Given the description of an element on the screen output the (x, y) to click on. 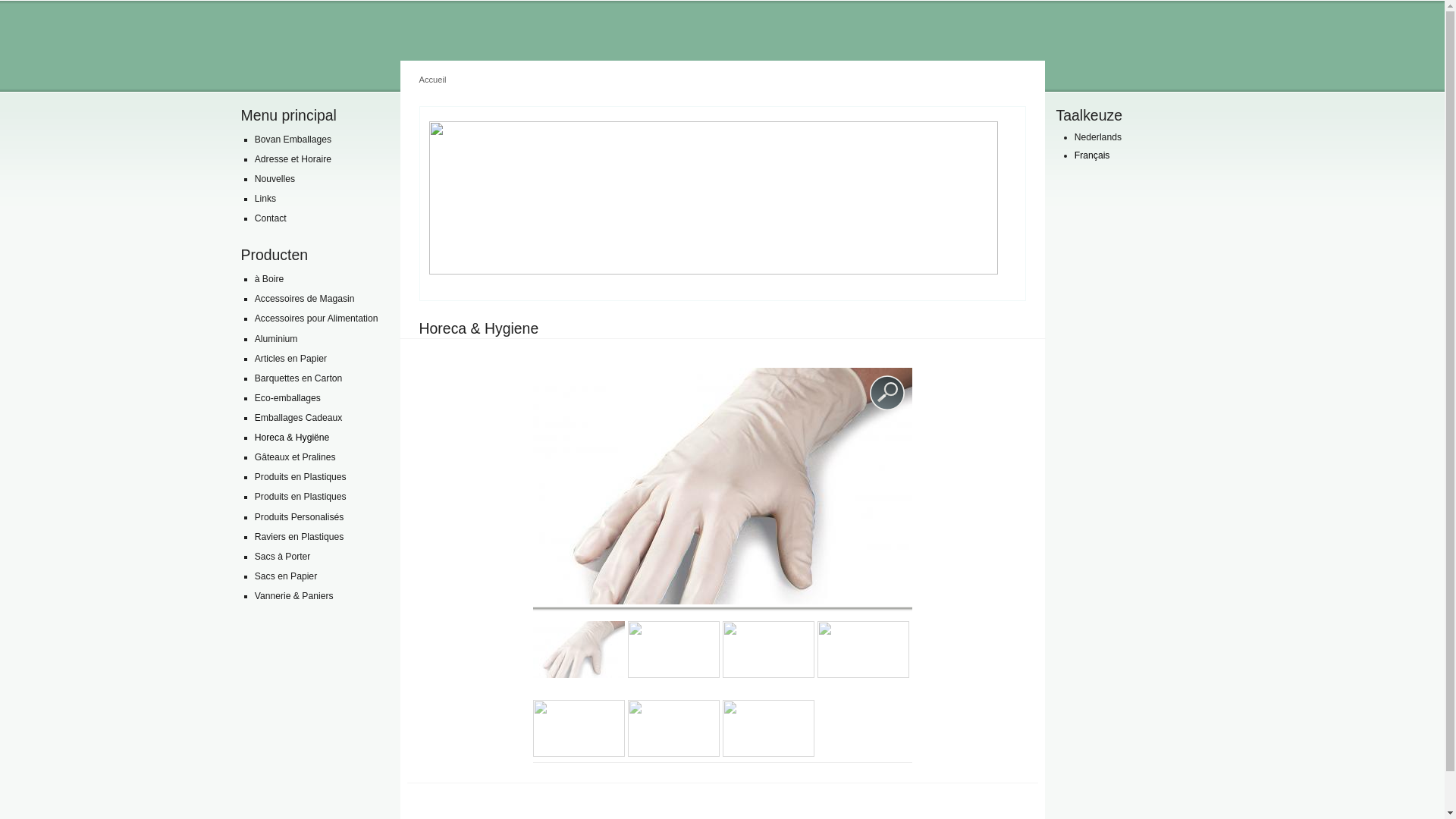
servettes Element type: hover (578, 727)
Eco-emballages Element type: text (319, 398)
Produits en Plastiques Element type: text (319, 497)
Nederlands Element type: text (1097, 136)
Accueil Element type: text (431, 79)
Adresse et Horaire Element type: text (319, 159)
Links Element type: text (319, 199)
Vannerie & Paniers Element type: text (319, 596)
Barquettes en Carton Element type: text (319, 378)
Sacs en Papier Element type: text (319, 576)
Bovan Emballages Element type: text (319, 139)
savons Element type: hover (767, 649)
pansaver Element type: hover (673, 727)
Aller au contenu principal Element type: text (697, 2)
gants Element type: hover (721, 485)
Articles en Papier Element type: text (319, 359)
Emballages Cadeaux Element type: text (319, 418)
Accessoires de Magasin Element type: text (319, 299)
Accessoires pour Alimentation Element type: text (319, 318)
Contact Element type: text (319, 218)
Produits en Plastiques Element type: text (319, 477)
capucons Element type: hover (673, 649)
papier pour tables & naperons Element type: hover (863, 649)
Nouvelles Element type: text (319, 179)
Raviers en Plastiques Element type: text (319, 537)
Aluminium Element type: text (319, 339)
gants Element type: hover (578, 649)
